Given the description of an element on the screen output the (x, y) to click on. 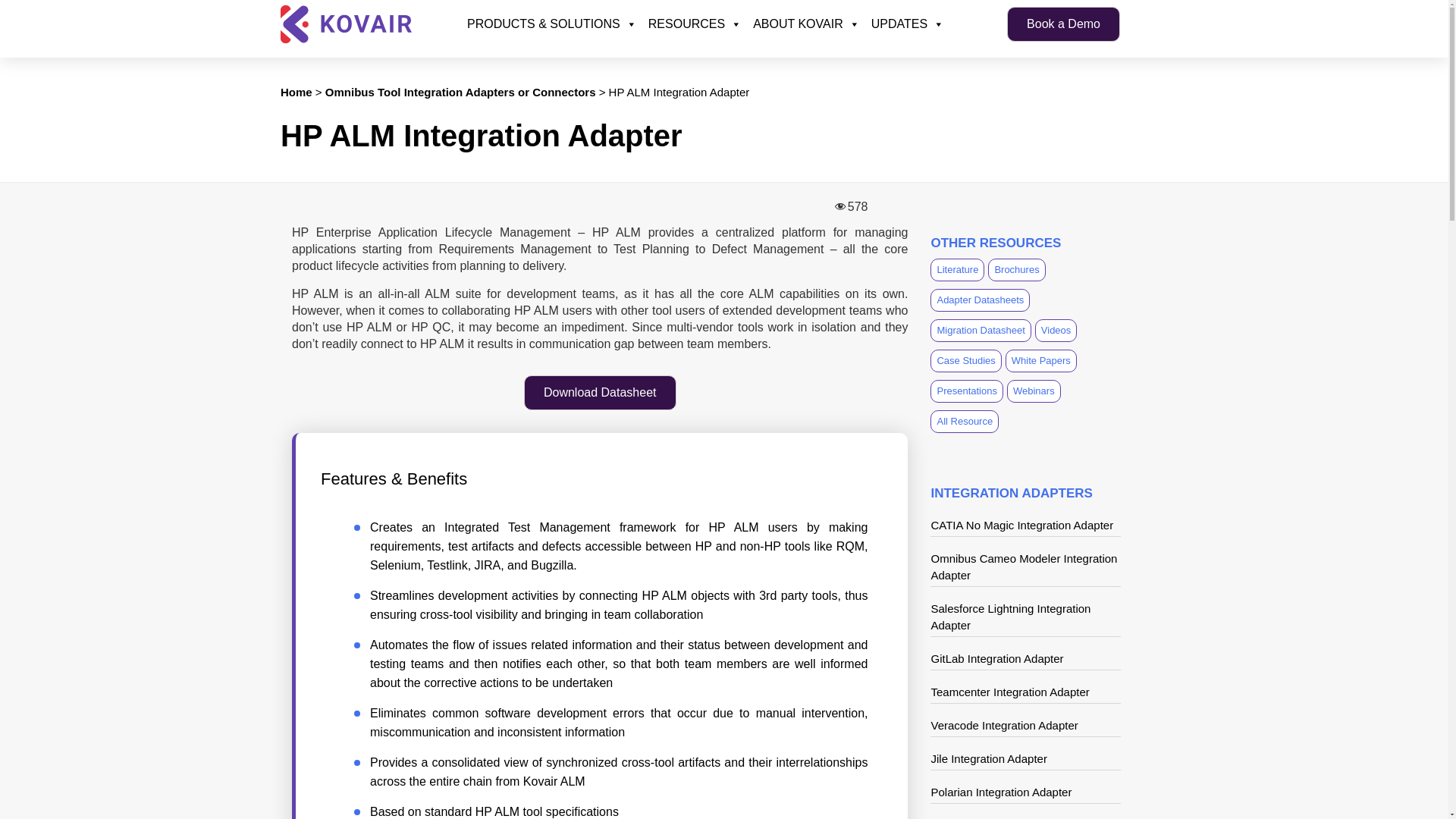
ABOUT KOVAIR (804, 23)
RESOURCES (692, 23)
